Given the description of an element on the screen output the (x, y) to click on. 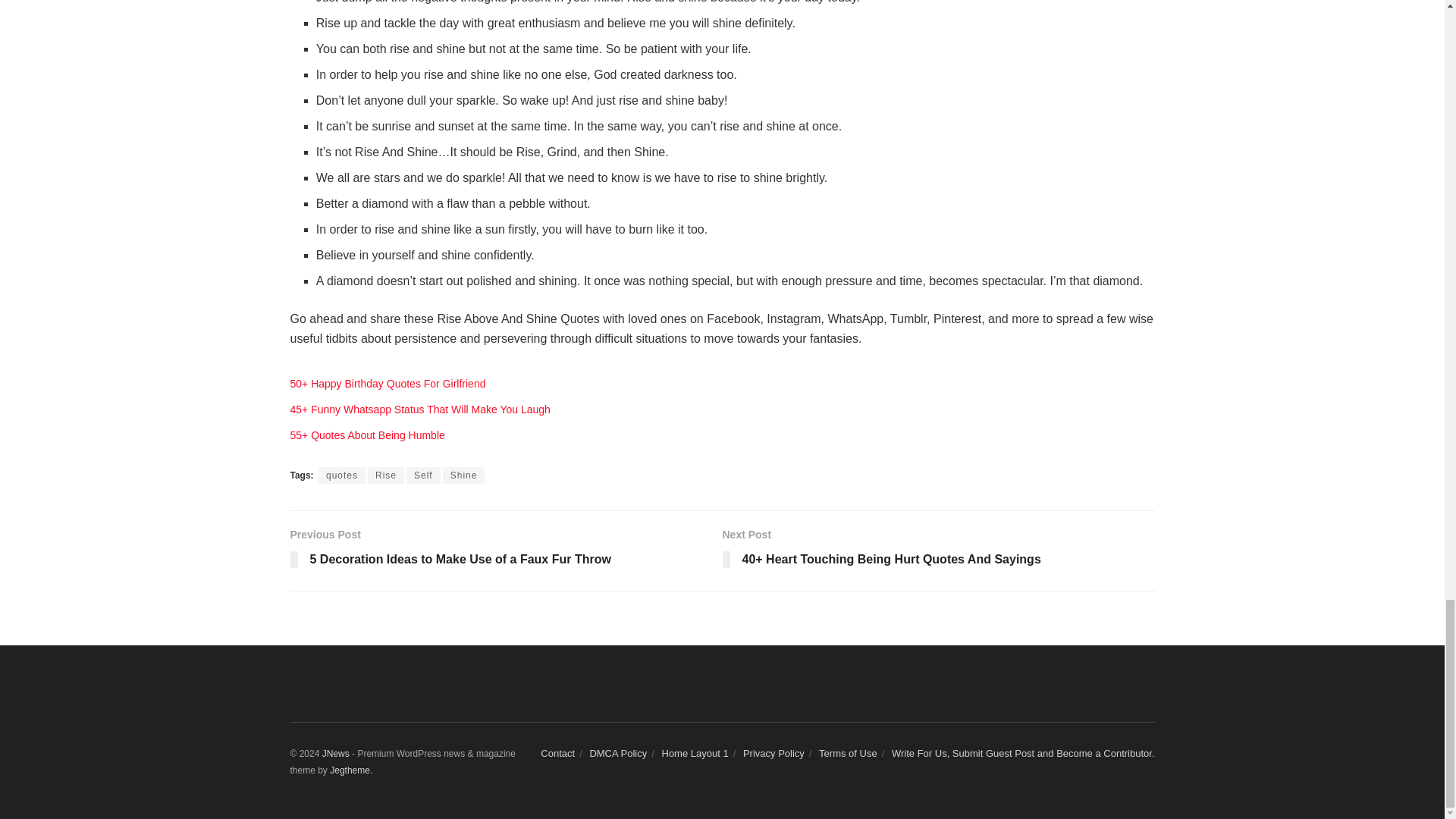
Jegtheme (349, 769)
